Given the description of an element on the screen output the (x, y) to click on. 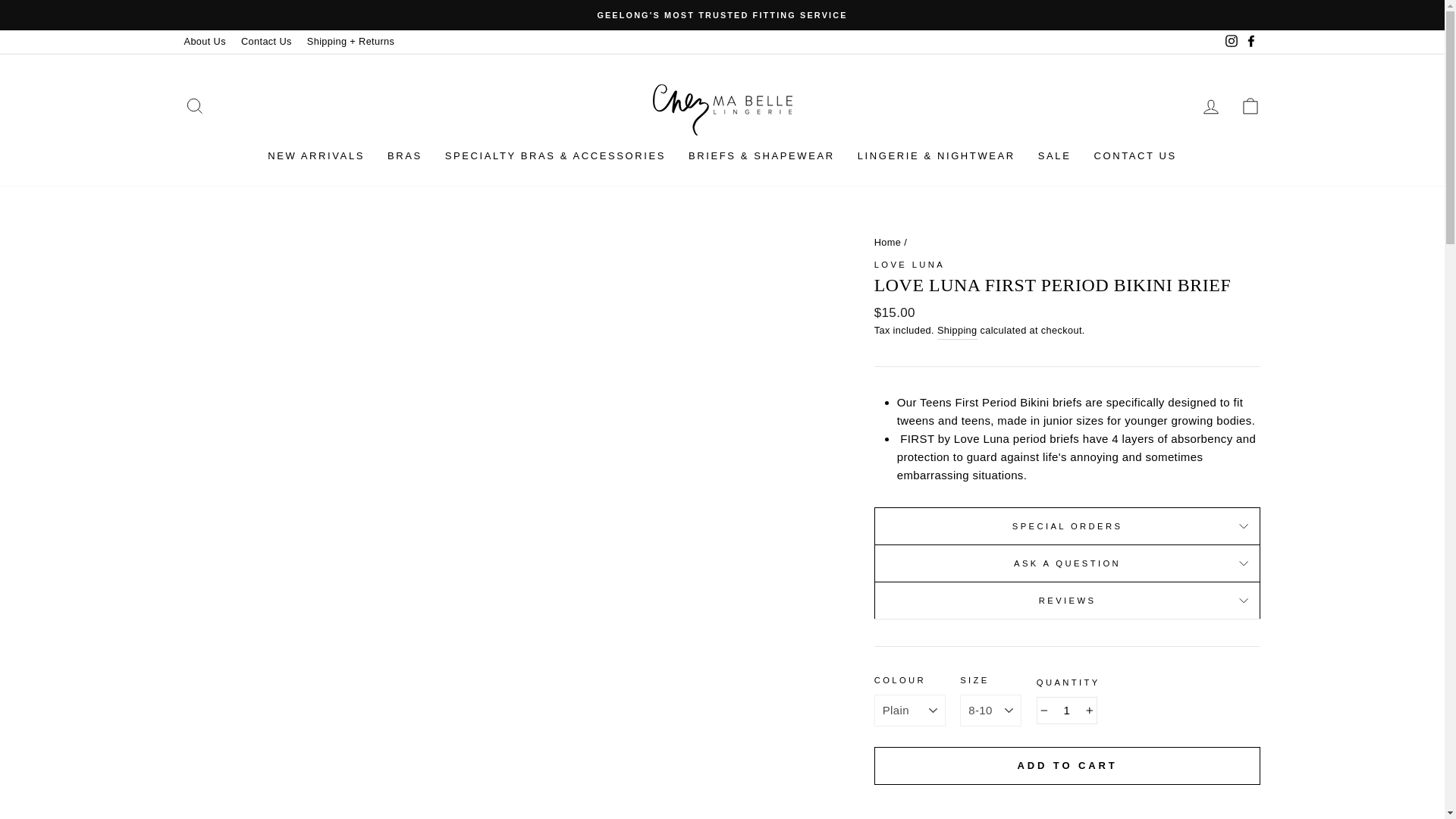
1 (1066, 709)
Back to the frontpage (888, 242)
